Given the description of an element on the screen output the (x, y) to click on. 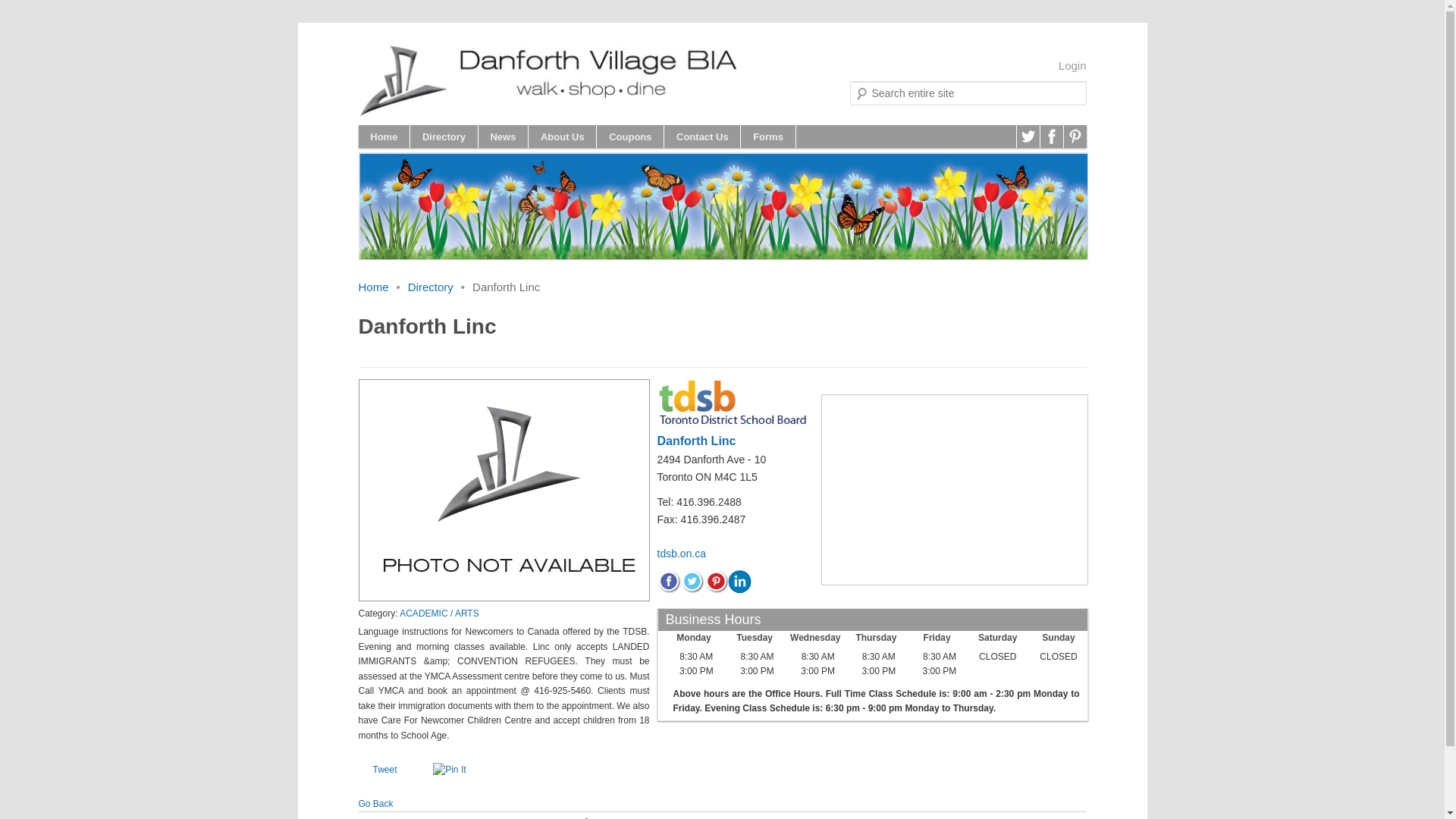
Forms (767, 136)
Directory (429, 286)
Go Back (375, 803)
Danforth Village BIA (619, 75)
Skip to secondary content (442, 136)
Search entire site (50, 8)
Home (373, 286)
Skip to secondary content (442, 136)
Login (1072, 65)
Danforth Linc (695, 440)
